Given the description of an element on the screen output the (x, y) to click on. 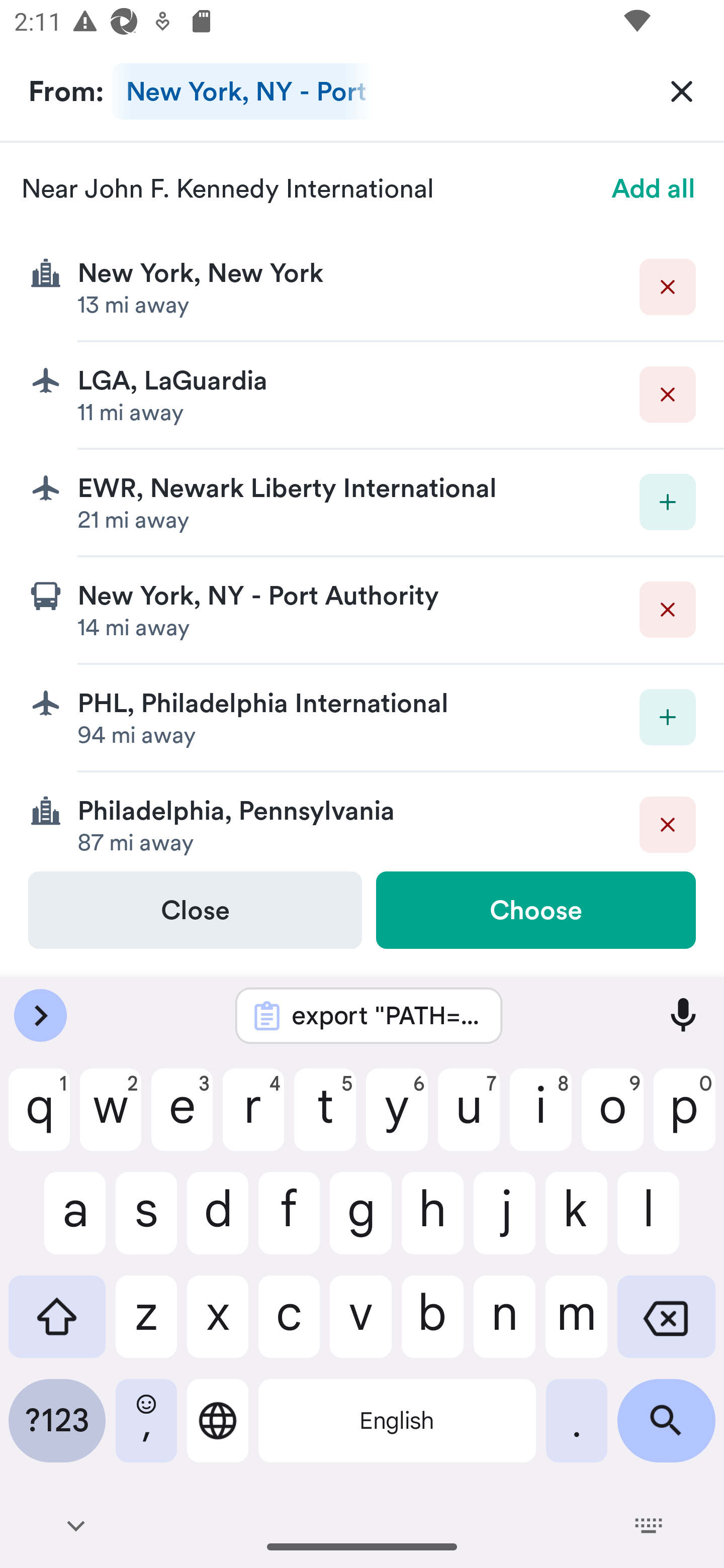
Clear All (681, 90)
New York, NY - Port Authority (241, 91)
Add all (653, 187)
Delete New York, New York 13 mi away (362, 287)
Delete (667, 286)
Delete LGA, LaGuardia 11 mi away (362, 395)
Delete (667, 394)
Add destination (667, 501)
Delete New York, NY - Port Authority 14 mi away (362, 610)
Delete (667, 609)
Add destination (667, 716)
Delete Philadelphia, Pennsylvania 87 mi away (362, 821)
Delete (667, 824)
Close (195, 909)
Choose (535, 909)
